Given the description of an element on the screen output the (x, y) to click on. 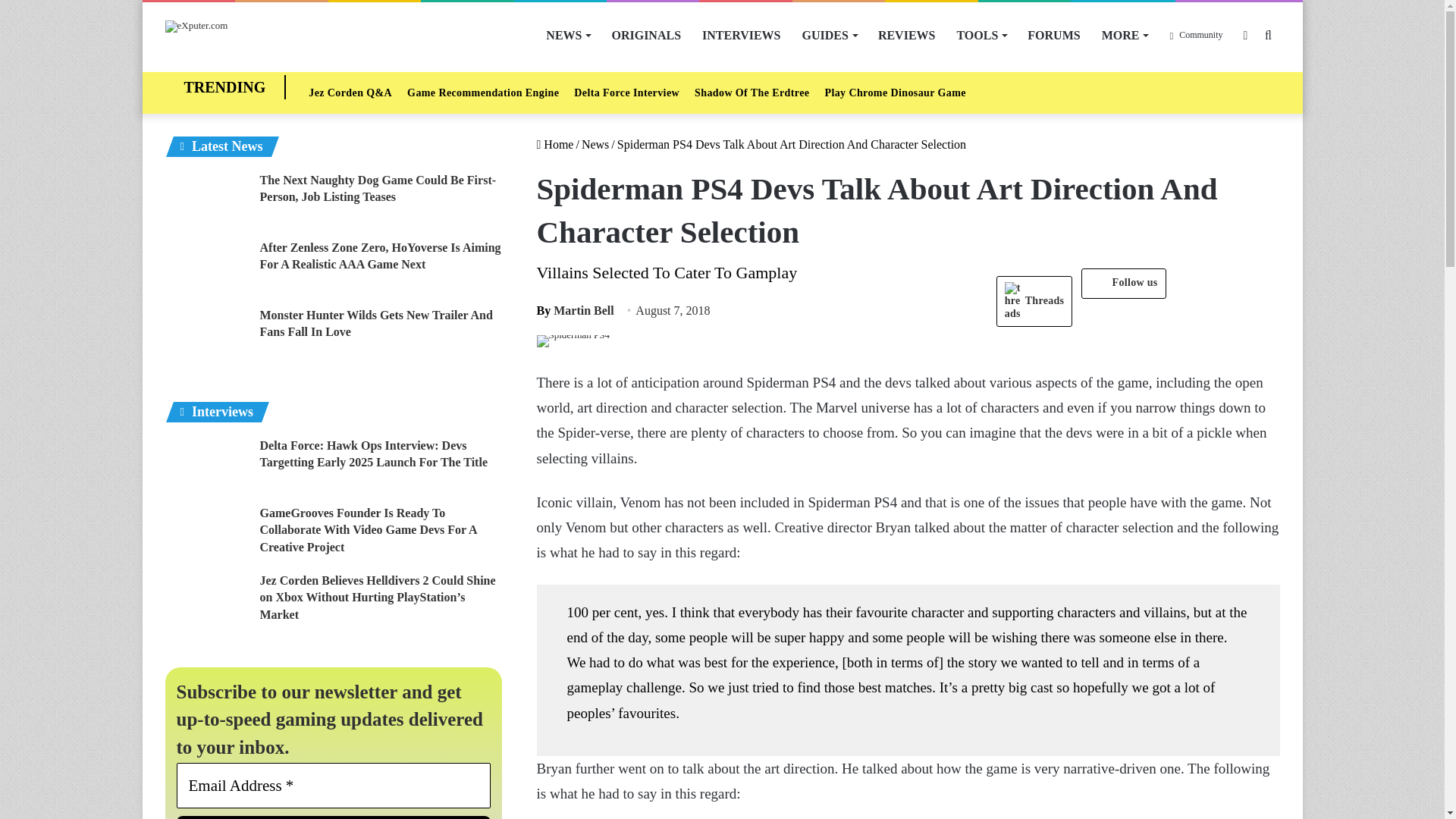
FORUMS (1053, 35)
NEWS (567, 35)
GUIDES (829, 35)
REVIEWS (906, 35)
ORIGINALS (645, 35)
Email Address (333, 785)
eXputer.com (196, 26)
Martin Bell (575, 309)
INTERVIEWS (740, 35)
